Given the description of an element on the screen output the (x, y) to click on. 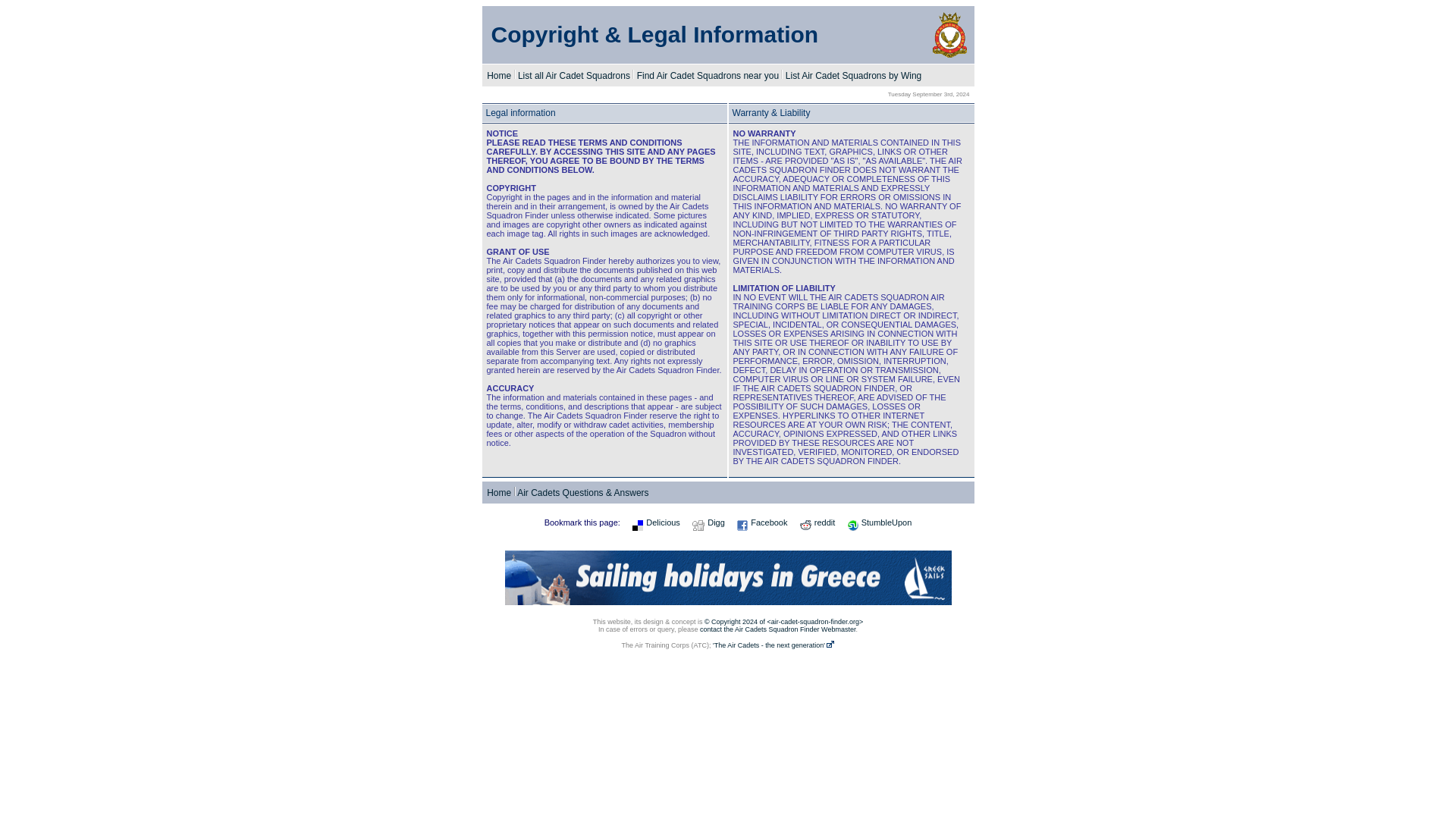
Bookmark this page to Delicious (655, 522)
Delicious (655, 522)
Contact the Air Cadets Squadron Finder webmaster (778, 629)
Home (498, 492)
contact the Air Cadets Squadron Finder Webmaster (778, 629)
List Air Cadet Squadrons by Wing (853, 75)
Facebook (761, 522)
List of all Air Cadet Squadrons (574, 75)
Find Air Cadet Squadrons near your postcode (707, 75)
Post this story to Facebook (761, 522)
